Given the description of an element on the screen output the (x, y) to click on. 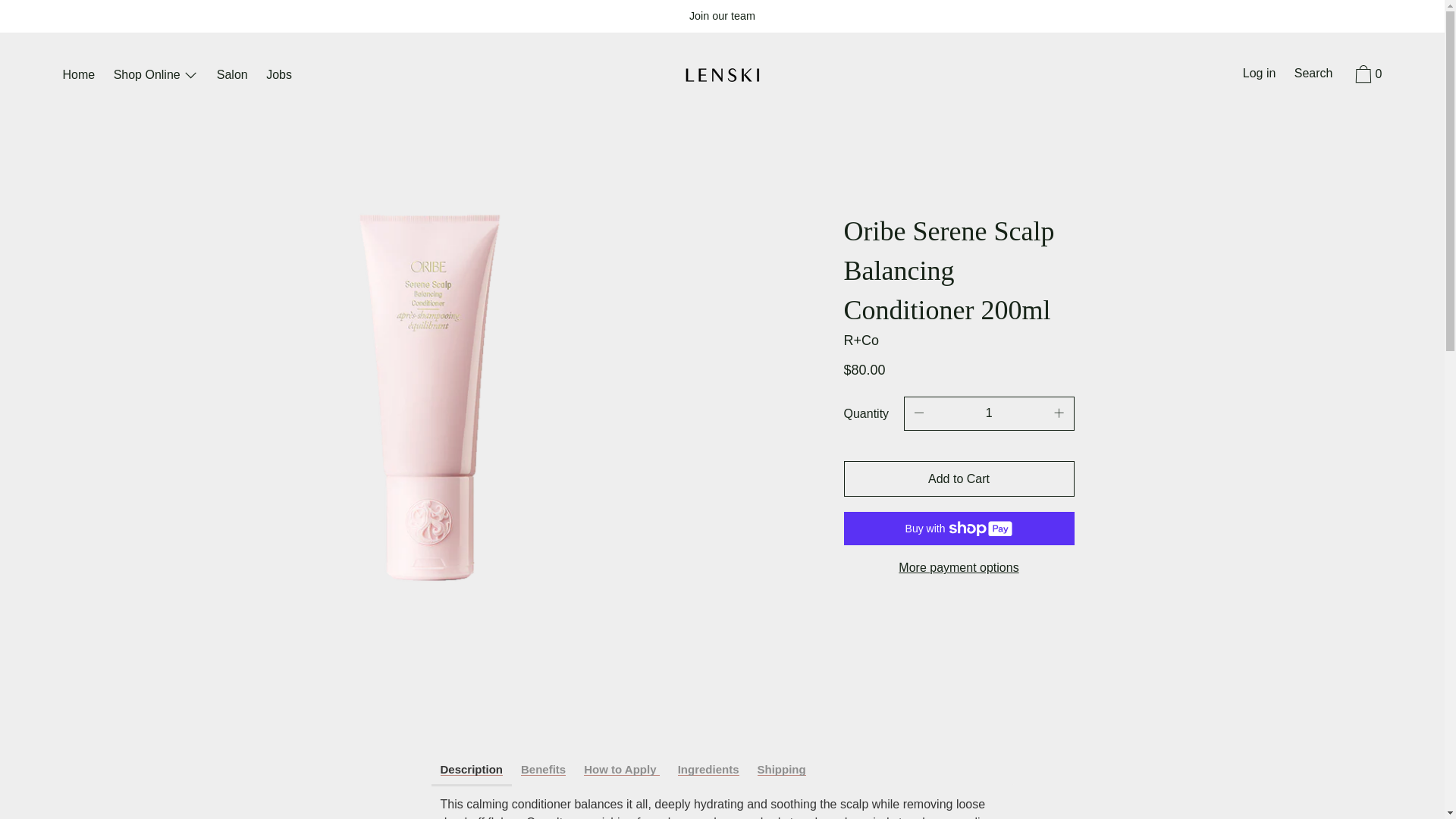
Salon (232, 76)
Jobs (279, 76)
Home (78, 76)
1 (988, 413)
0 (1366, 76)
Search (1313, 74)
Shop Online (156, 76)
Log in (1259, 74)
